Given the description of an element on the screen output the (x, y) to click on. 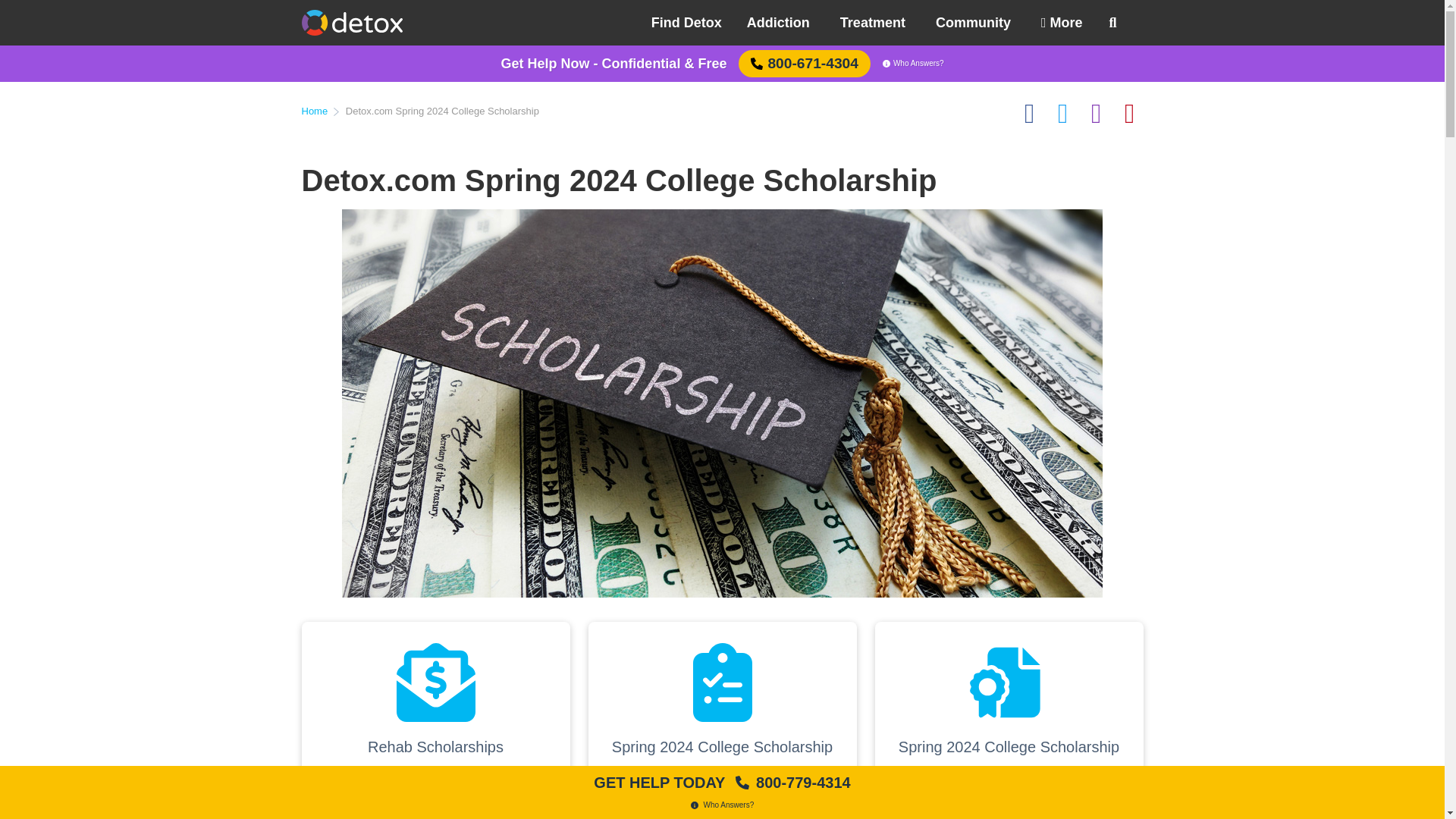
Follow us on Twitter (1063, 113)
Addiction (778, 22)
Follow us on Pinterest (1129, 113)
Follow us on Instagram (1096, 113)
Find Detox (691, 22)
Follow us on Facebook (1029, 113)
